Given the description of an element on the screen output the (x, y) to click on. 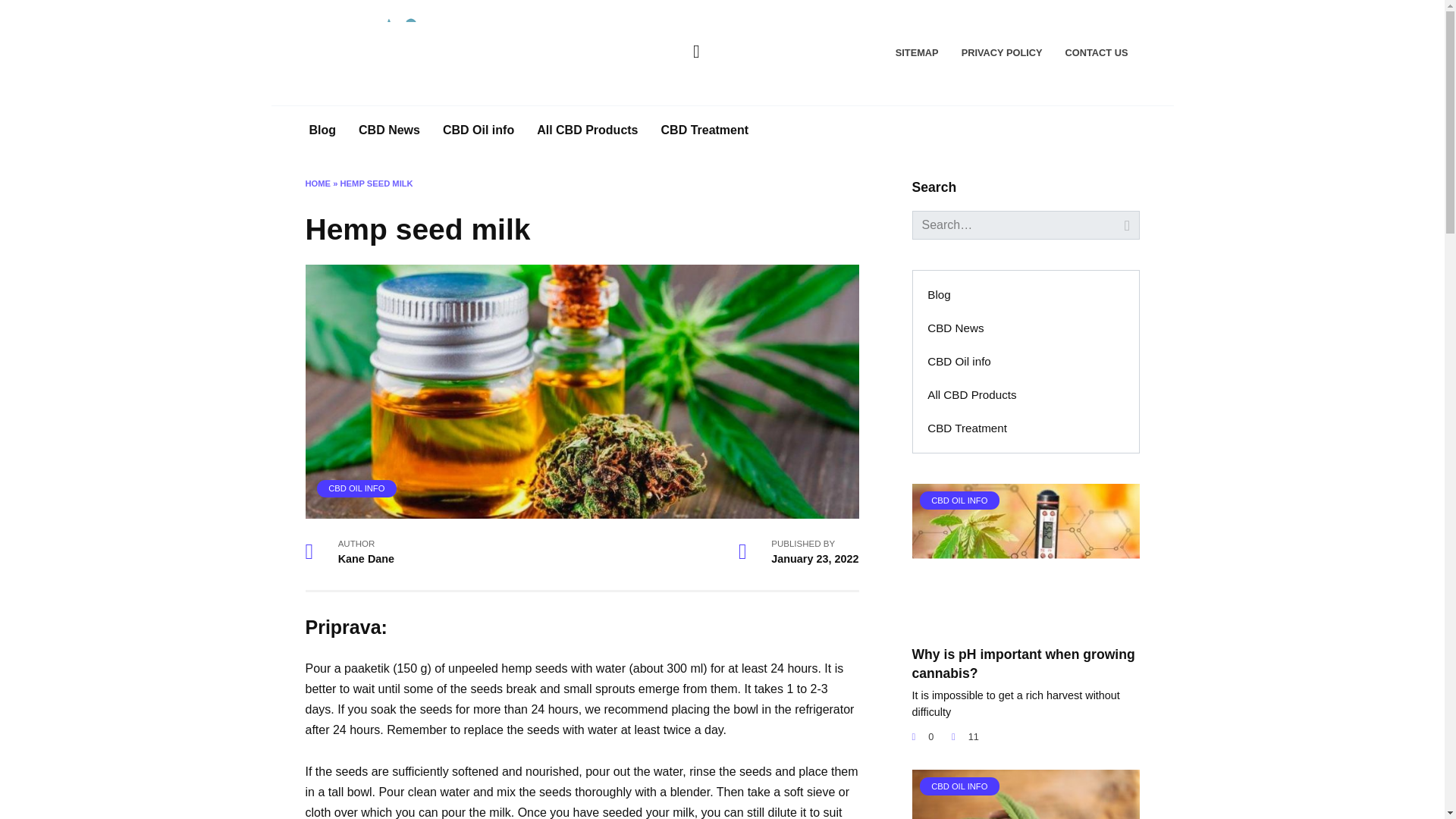
All CBD Products (972, 394)
CBD Oil info (959, 361)
HOME (317, 183)
Blog (322, 130)
CBD OIL INFO (356, 488)
CBD OIL INFO (1024, 623)
CBD Oil info (477, 130)
SITEMAP (917, 52)
CBD News (955, 328)
Why is pH important when growing cannabis? (1022, 663)
CBD Treatment (967, 428)
CONTACT US (1096, 52)
Blog (939, 295)
CBD Treatment (704, 130)
PRIVACY POLICY (1001, 52)
